Given the description of an element on the screen output the (x, y) to click on. 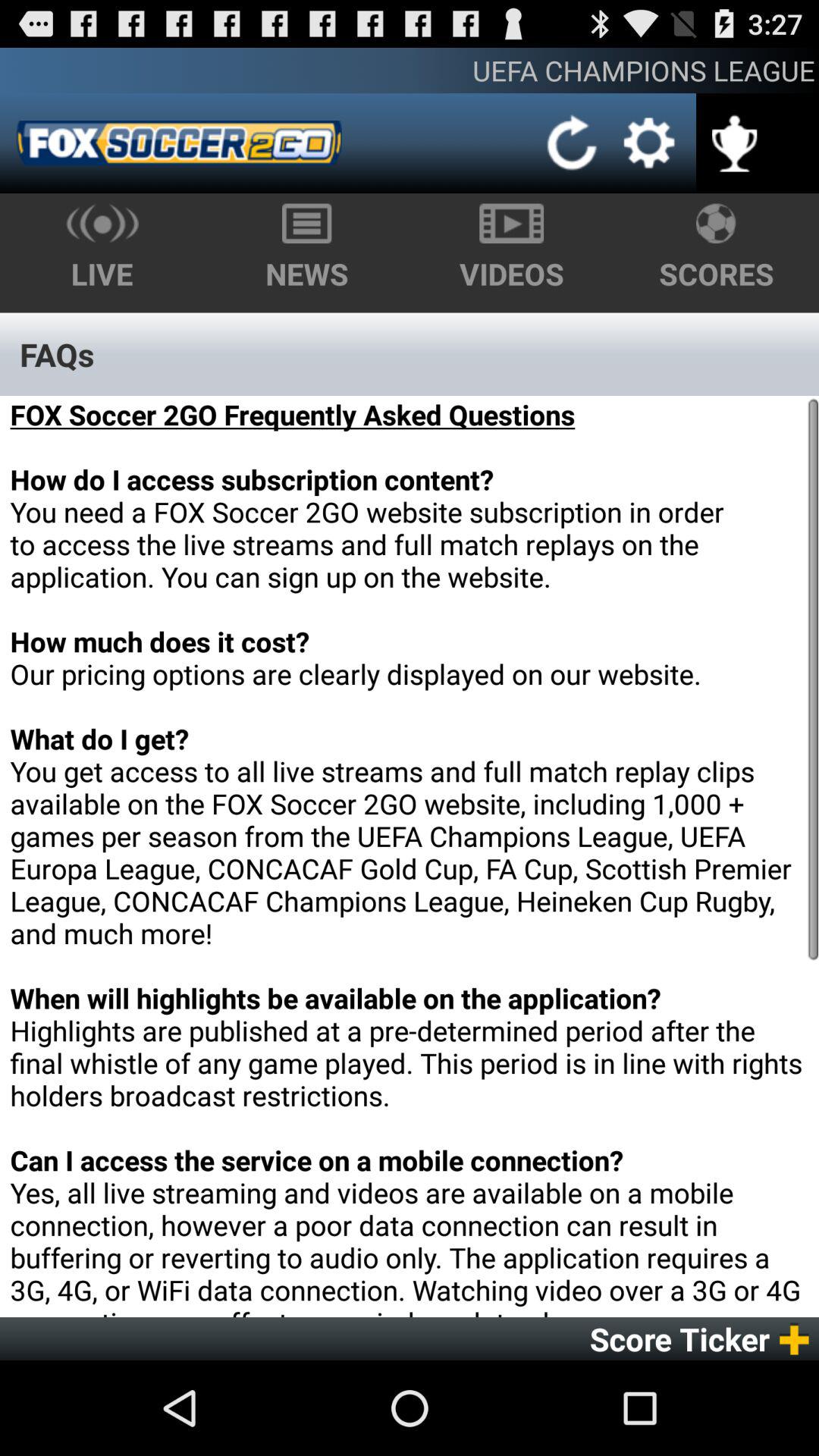
select app below the uefa champions league icon (648, 142)
